Given the description of an element on the screen output the (x, y) to click on. 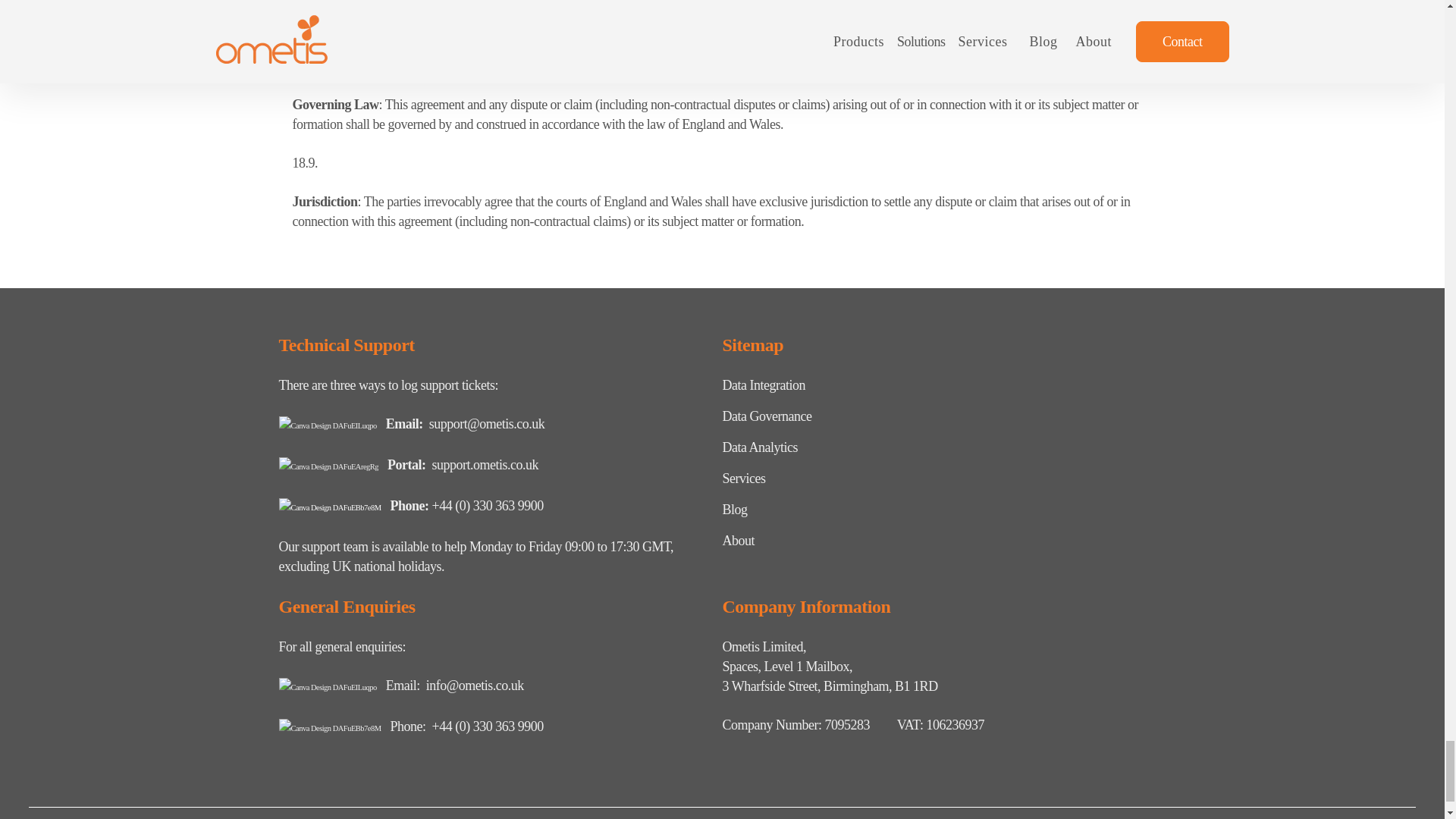
support.ometis.co.uk (485, 464)
Data Governance (766, 416)
Data Analytics (759, 447)
Data Integration (763, 385)
